Given the description of an element on the screen output the (x, y) to click on. 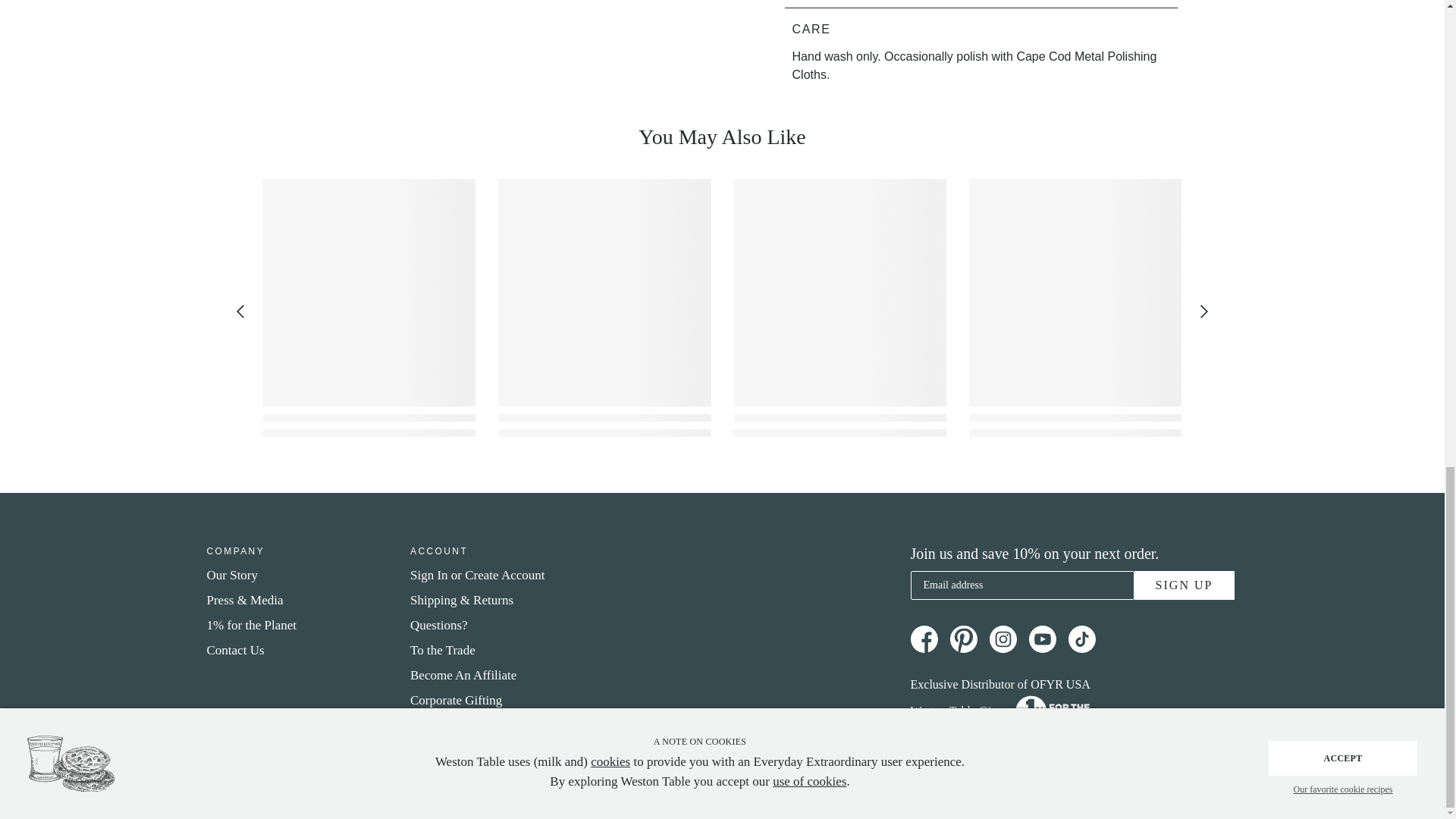
pinterest-circular-logo-symbol Created with Sketch. (962, 638)
facebook Created with Sketch. (923, 638)
Weston Table on TikTok (1080, 638)
instagram Created with Sketch. (1002, 638)
Weston Table on Instagram (1002, 638)
Weston Table on Youtube (1041, 638)
Weston Table on Facebook (923, 638)
Weston Table on Pinterest (962, 638)
